Given the description of an element on the screen output the (x, y) to click on. 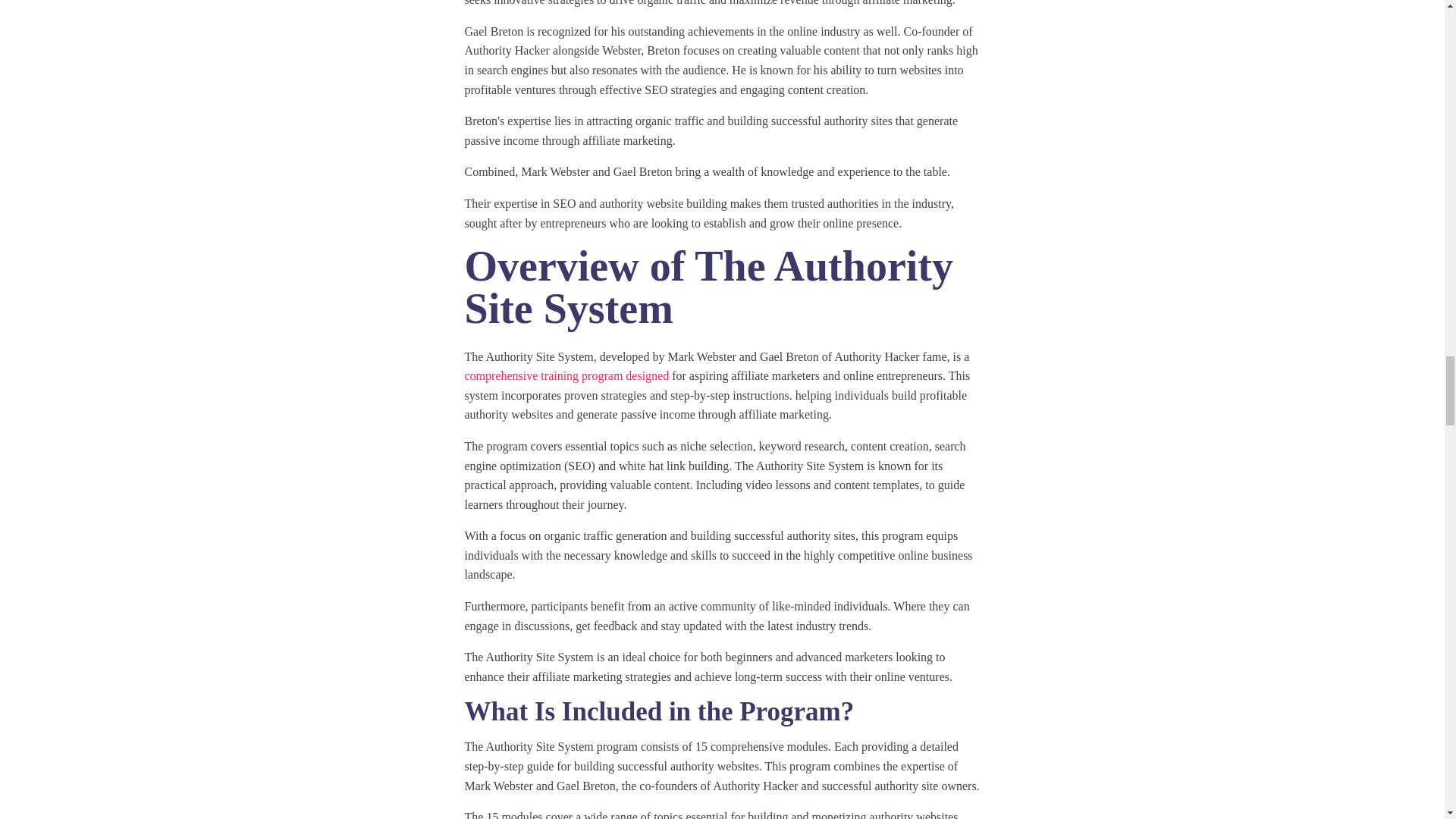
comprehensive training program designed (566, 375)
